Given the description of an element on the screen output the (x, y) to click on. 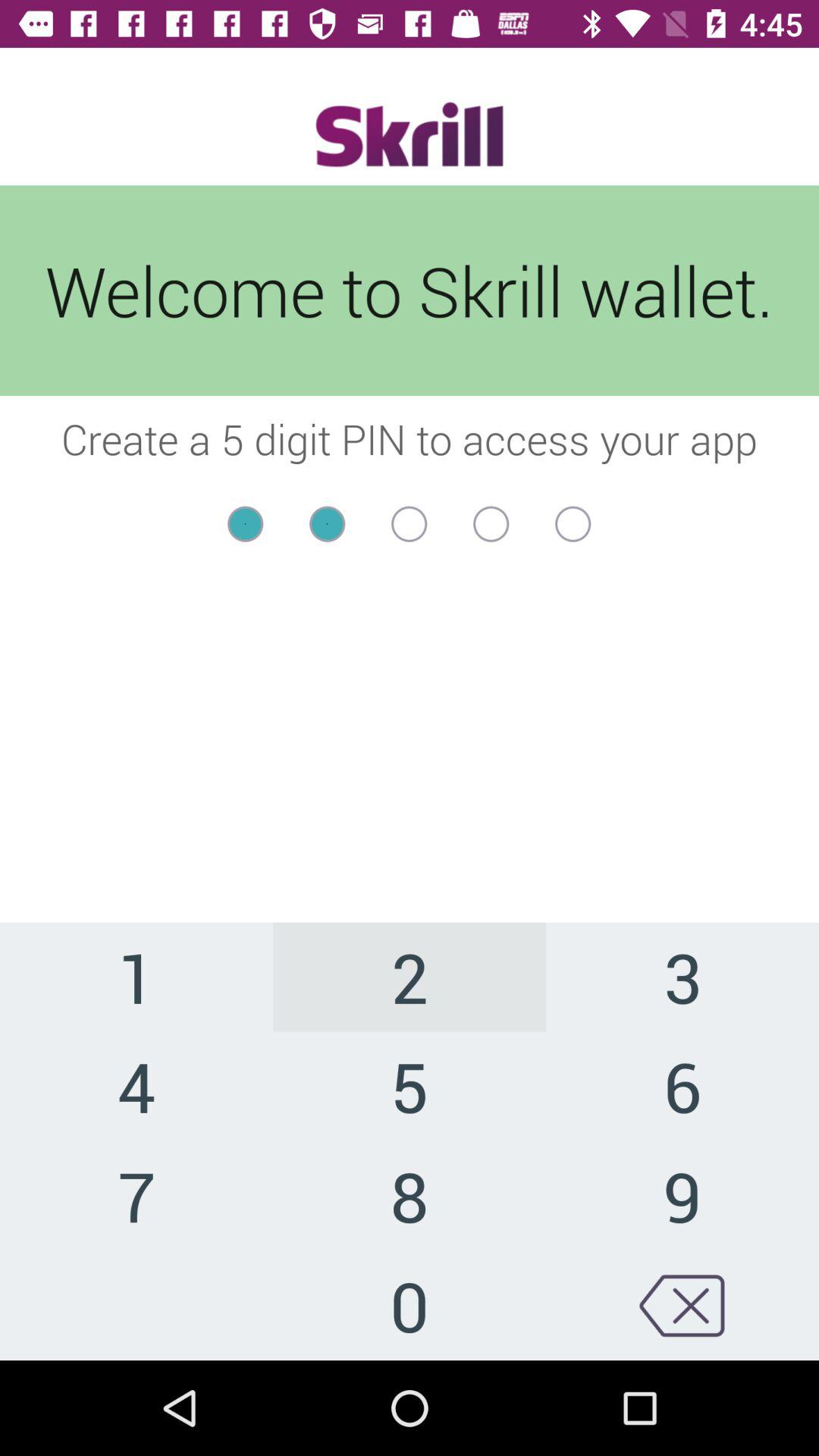
press the item to the left of 9 icon (409, 1305)
